Given the description of an element on the screen output the (x, y) to click on. 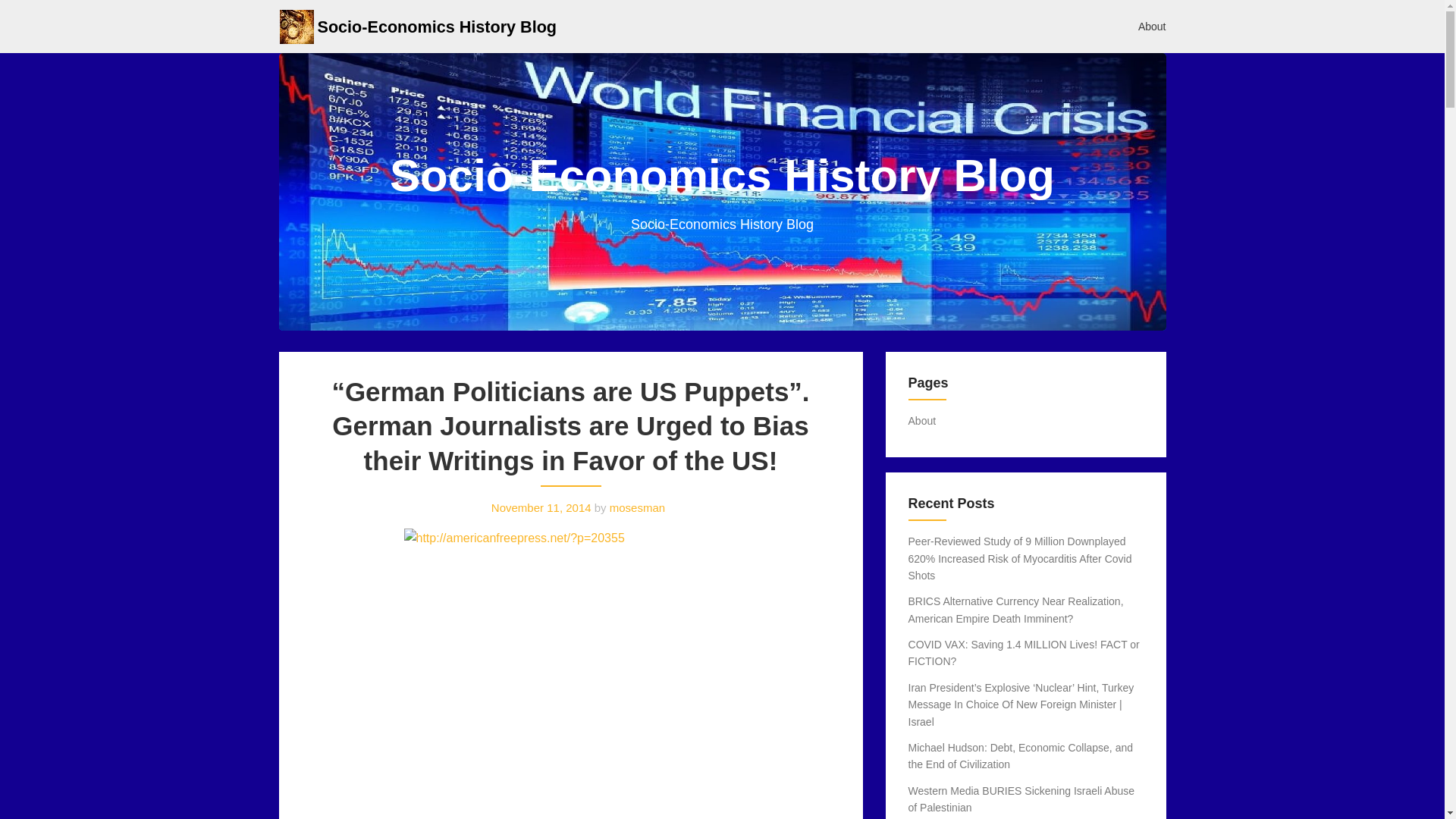
November 11, 2014 (541, 507)
COVID VAX: Saving 1.4 MILLION Lives! FACT or FICTION? (1024, 652)
About (922, 420)
Western Media BURIES Sickening Israeli Abuse of Palestinian (1021, 799)
About (1151, 26)
Socio-Economics History Blog (436, 26)
